Given the description of an element on the screen output the (x, y) to click on. 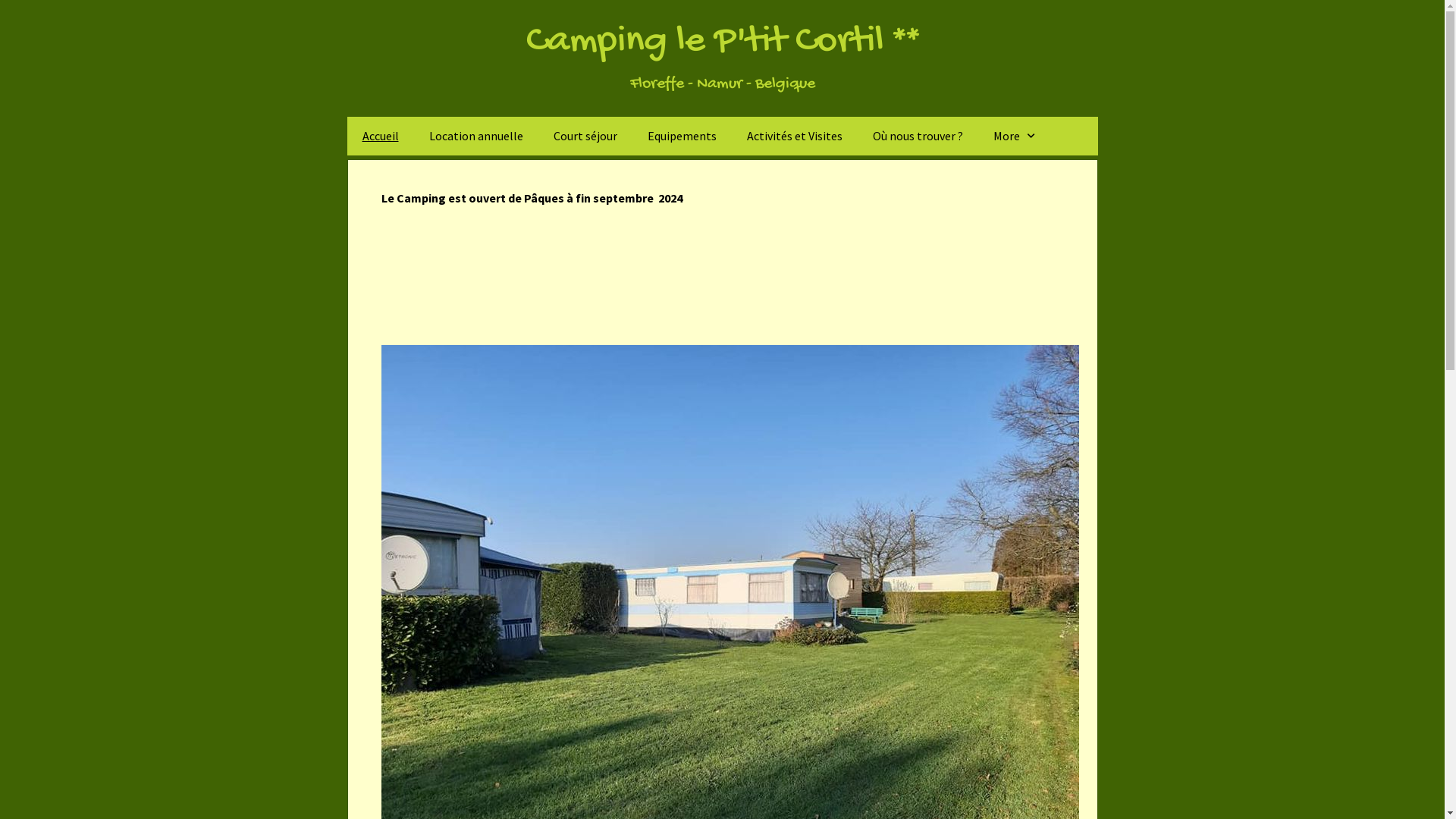
Location annuelle Element type: text (476, 135)
More Element type: text (1016, 135)
Accueil Element type: text (380, 135)
Camping le P'tit Cortil ** Element type: text (722, 41)
Equipements Element type: text (681, 135)
